Given the description of an element on the screen output the (x, y) to click on. 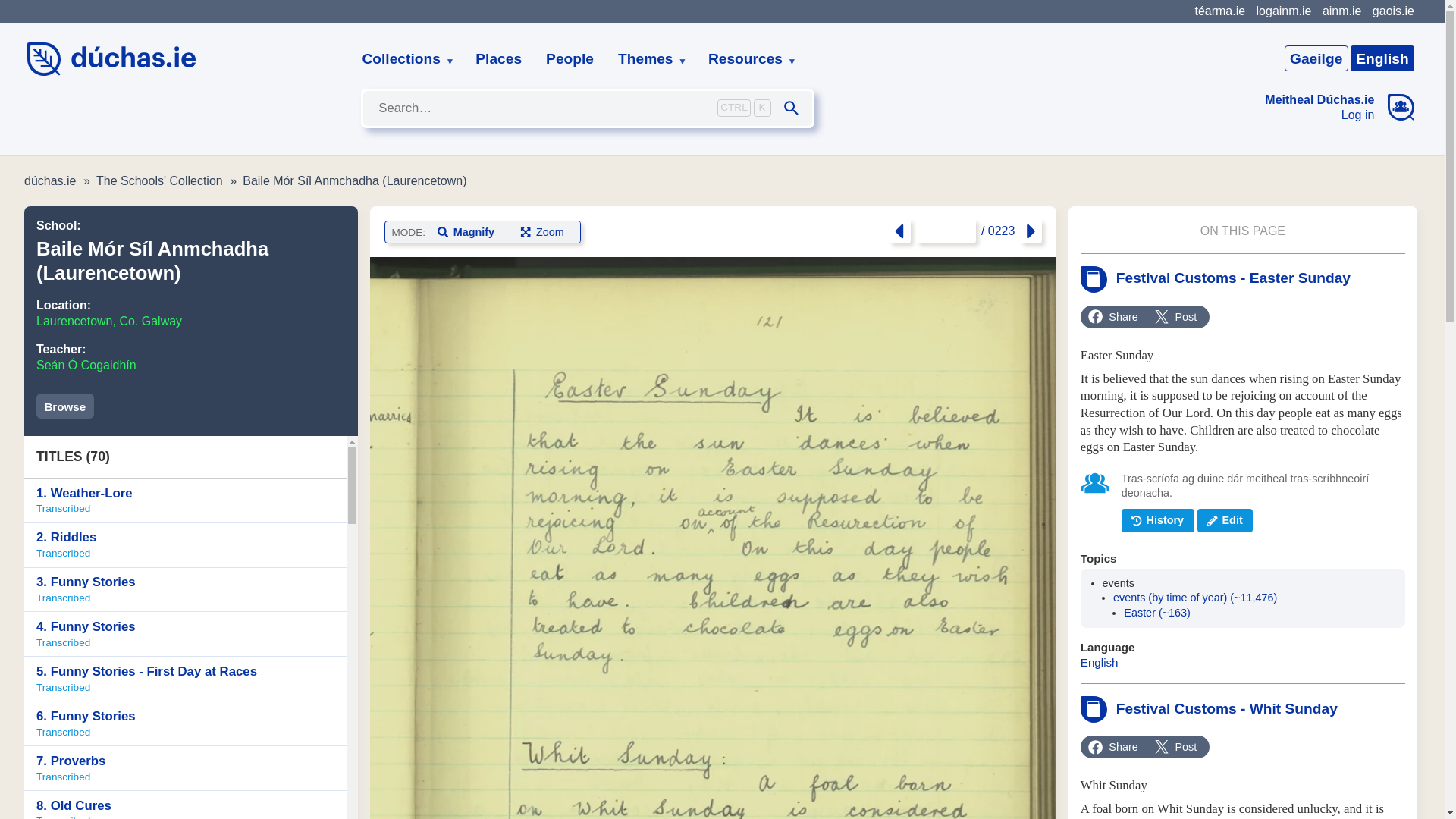
Gaeilge (1316, 58)
People (569, 58)
Themes (185, 545)
Browse (646, 59)
ainm.ie (65, 405)
English (185, 500)
Places (1341, 11)
gaois.ie (1382, 58)
logainm.ie (498, 58)
Resources (1393, 11)
Laurencetown, Co. Galway (1283, 11)
The Schools' Collection (745, 59)
Collections (109, 320)
